Given the description of an element on the screen output the (x, y) to click on. 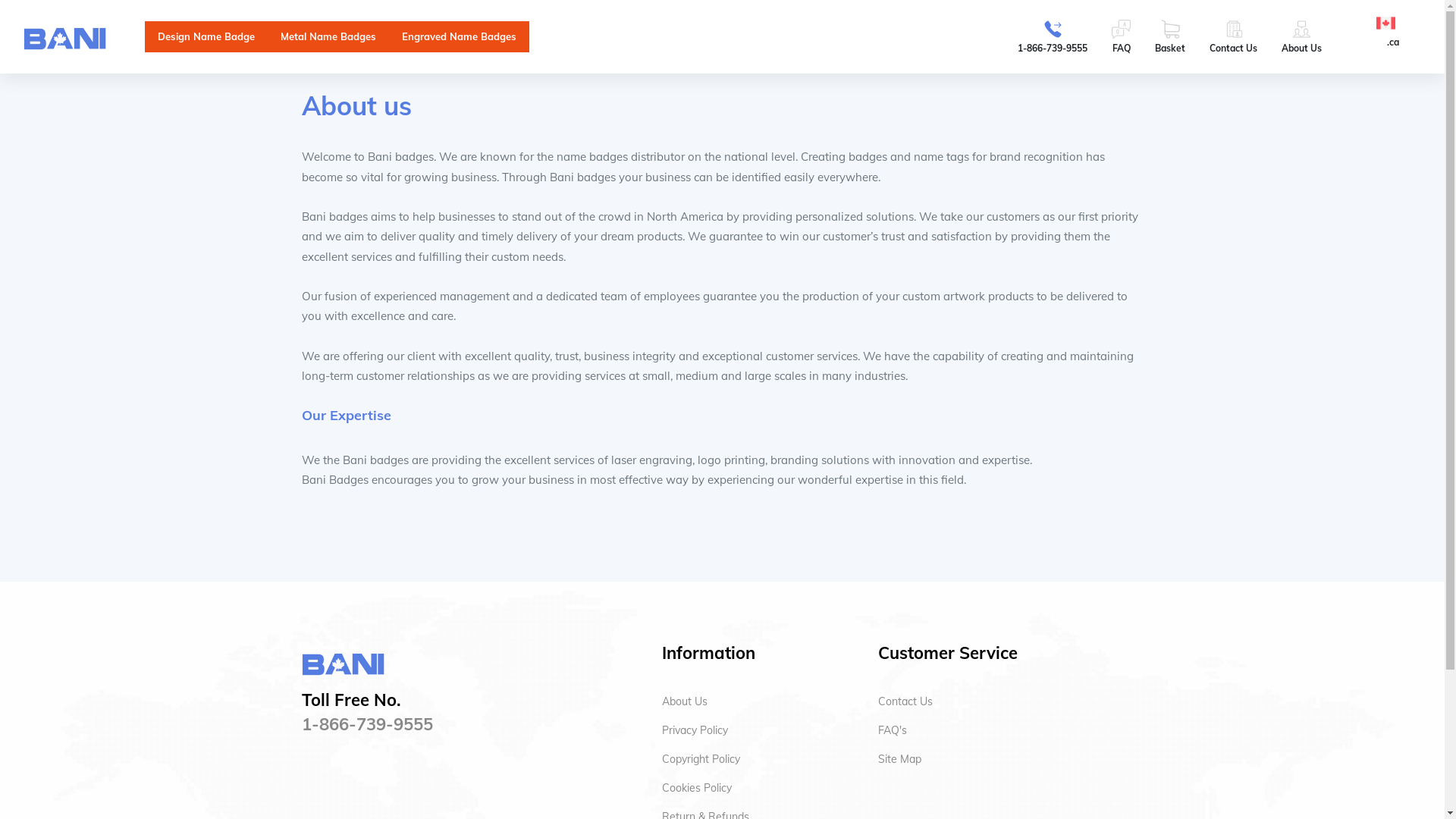
Design Name Badge Element type: text (205, 36)
Metal Name Badges Element type: text (328, 36)
About Us Element type: text (683, 701)
Cookies Policy Element type: text (696, 787)
FAQ Element type: text (1120, 36)
Site Map Element type: text (899, 758)
Basket Element type: text (1169, 36)
Contact Us Element type: text (1233, 36)
About Us Element type: text (1301, 36)
.ca Element type: text (1392, 30)
Copyright Policy Element type: text (700, 758)
Engraved Name Badges Element type: text (459, 36)
1-866-739-9555 Element type: text (1052, 36)
Contact Us Element type: text (905, 701)
Privacy Policy Element type: text (694, 730)
FAQ'S Element type: text (892, 730)
